Given the description of an element on the screen output the (x, y) to click on. 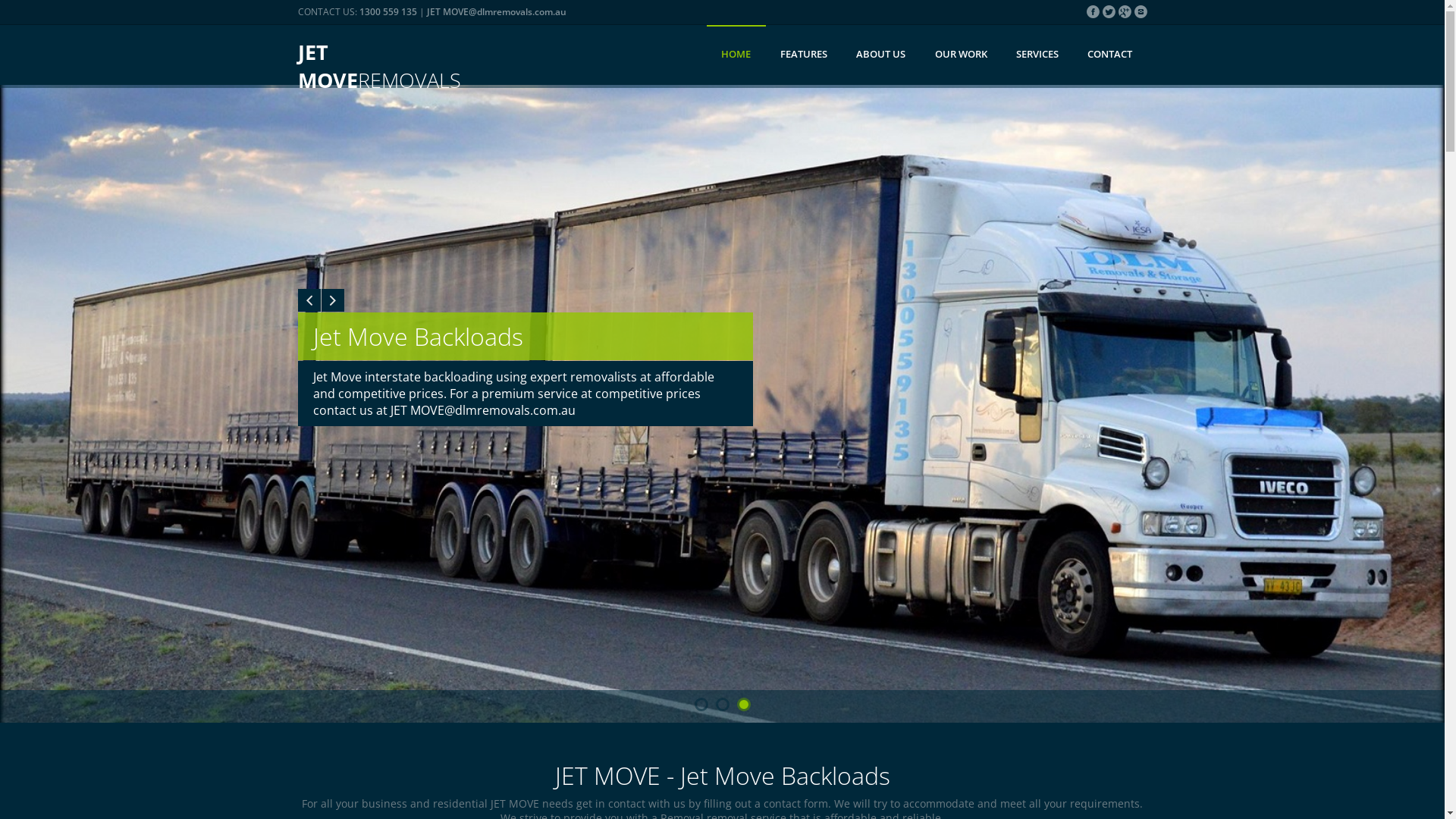
FEATURES Element type: text (803, 54)
OUR WORK Element type: text (960, 54)
CONTACT Element type: text (1109, 54)
SERVICES Element type: text (1037, 54)
HOME Element type: text (735, 54)
ABOUT US Element type: text (880, 54)
